Given the description of an element on the screen output the (x, y) to click on. 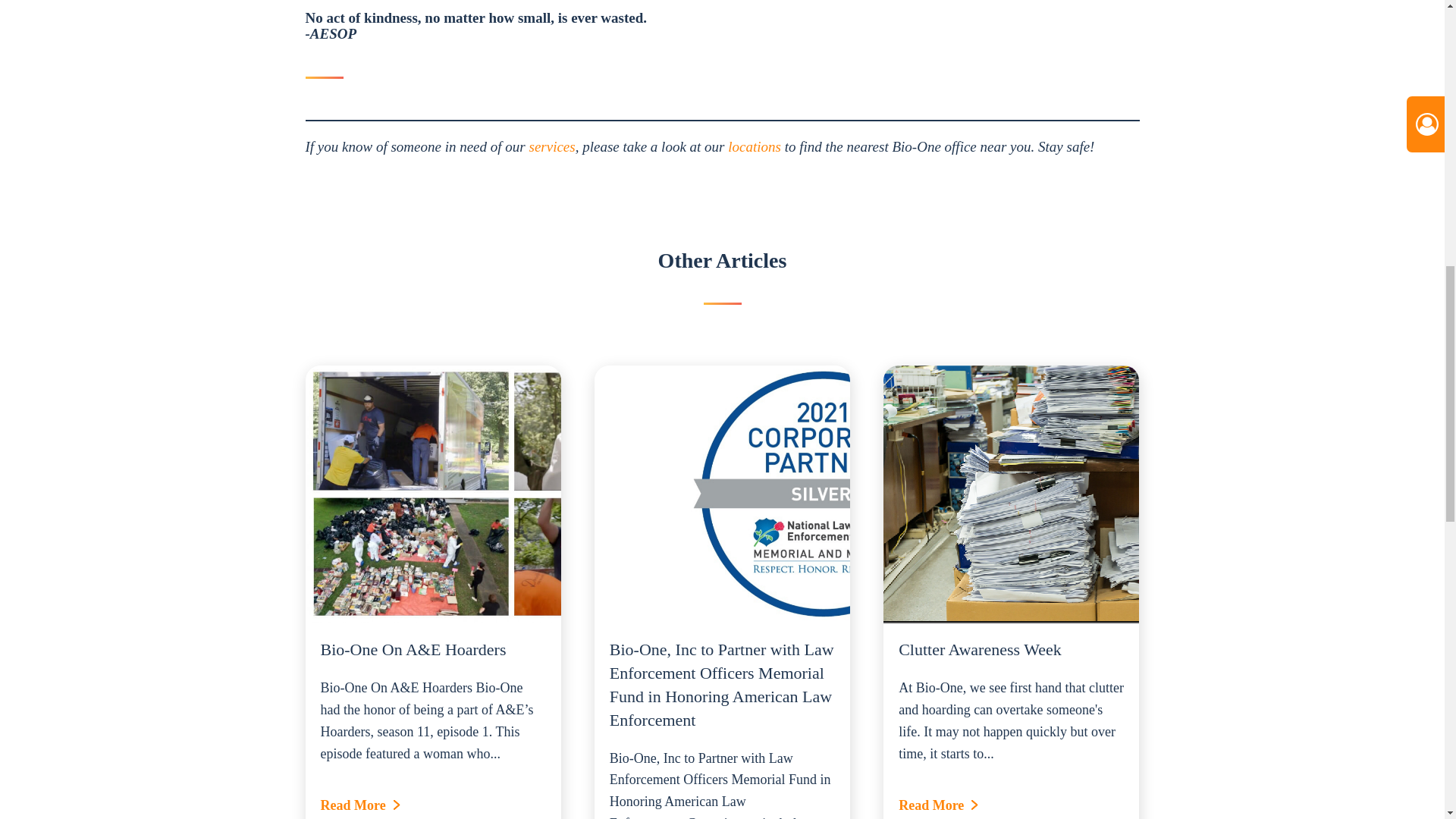
services (551, 146)
Read More (432, 805)
locations (754, 146)
